Given the description of an element on the screen output the (x, y) to click on. 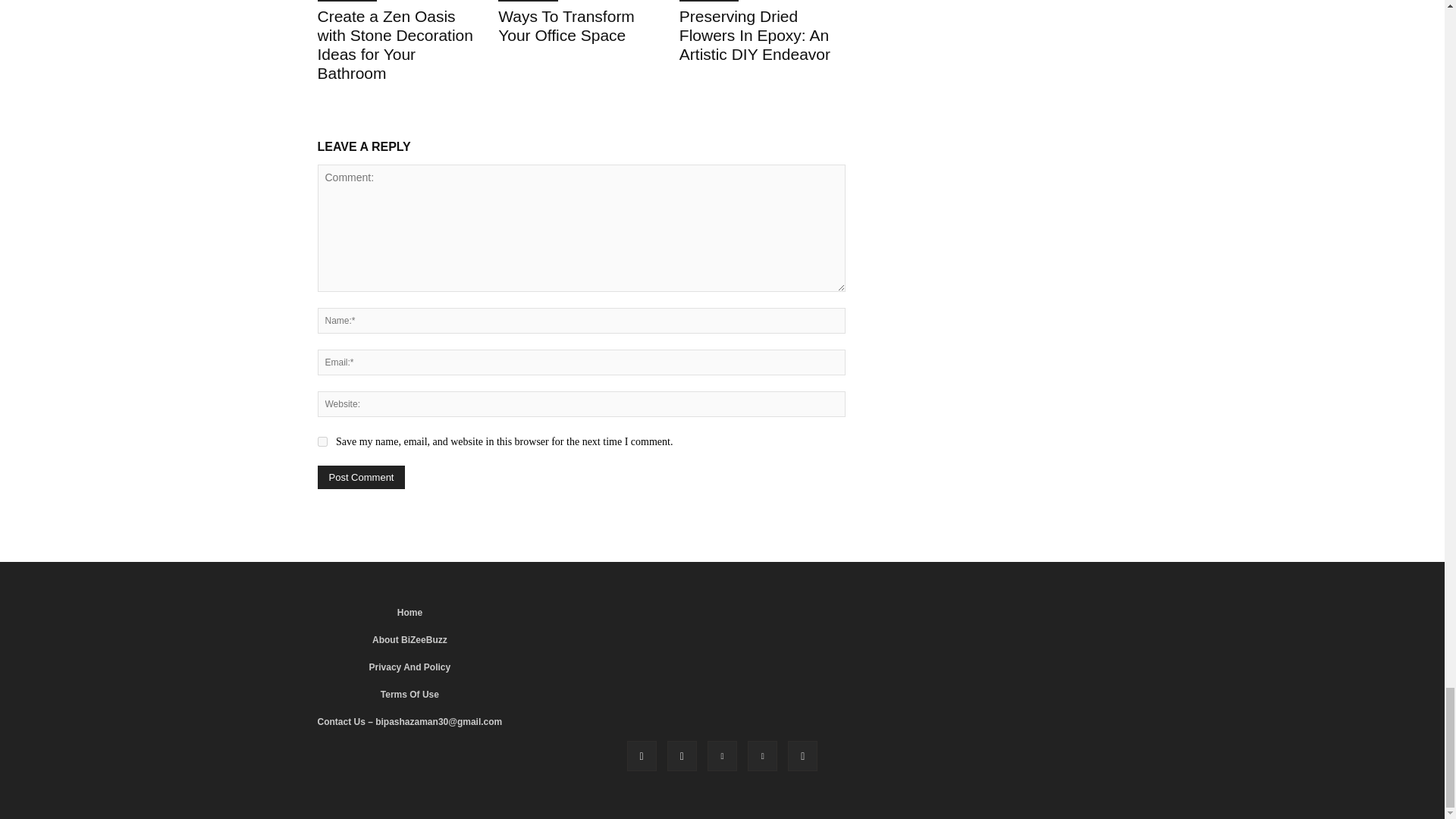
Post Comment (360, 477)
yes (321, 441)
